Given the description of an element on the screen output the (x, y) to click on. 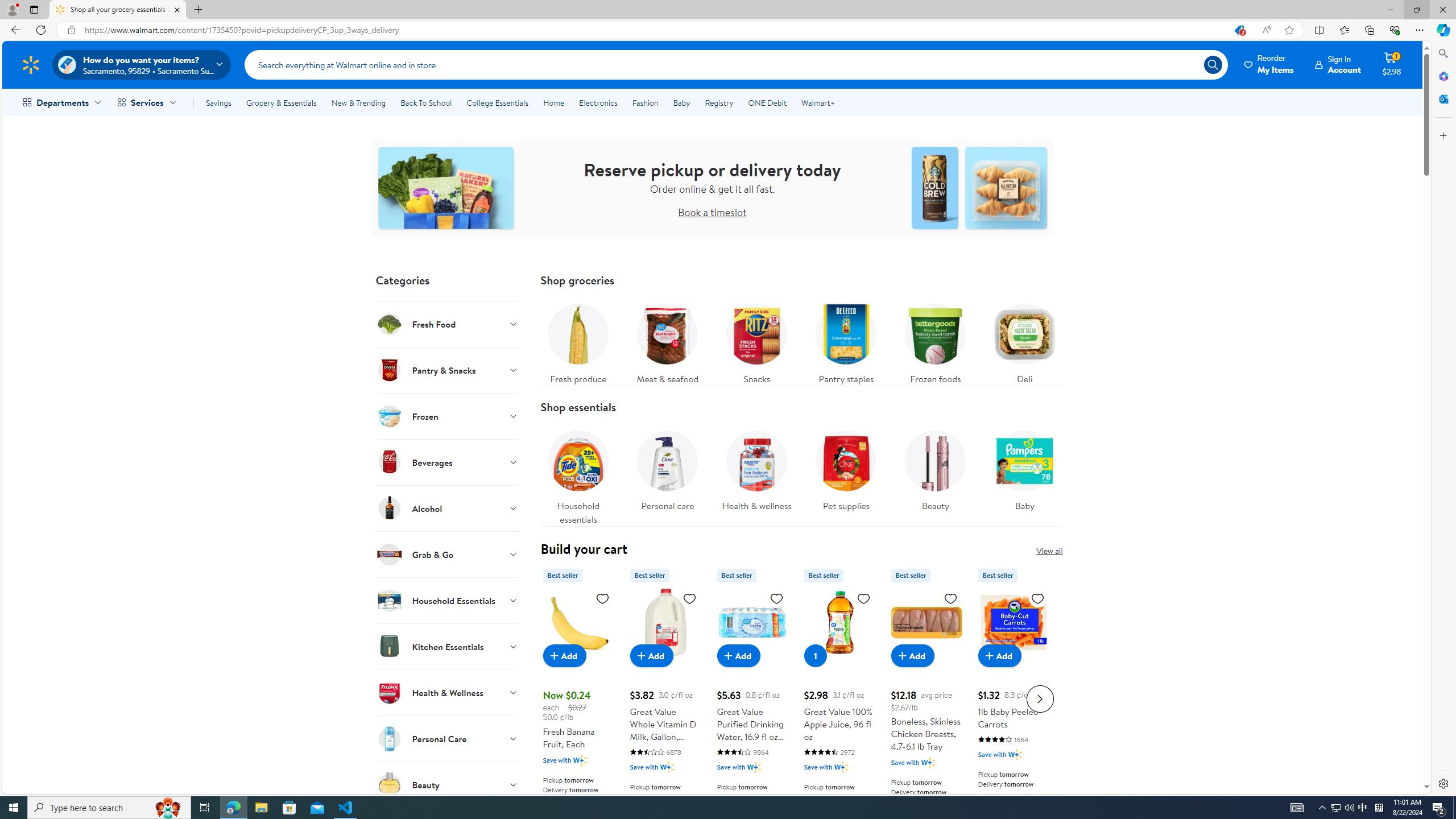
Pet supplies (845, 467)
New & Trending (358, 102)
Walmart Plus (1015, 754)
Fresh Banana Fruit, Each (578, 621)
Search icon (1212, 64)
Beverages (446, 461)
